Given the description of an element on the screen output the (x, y) to click on. 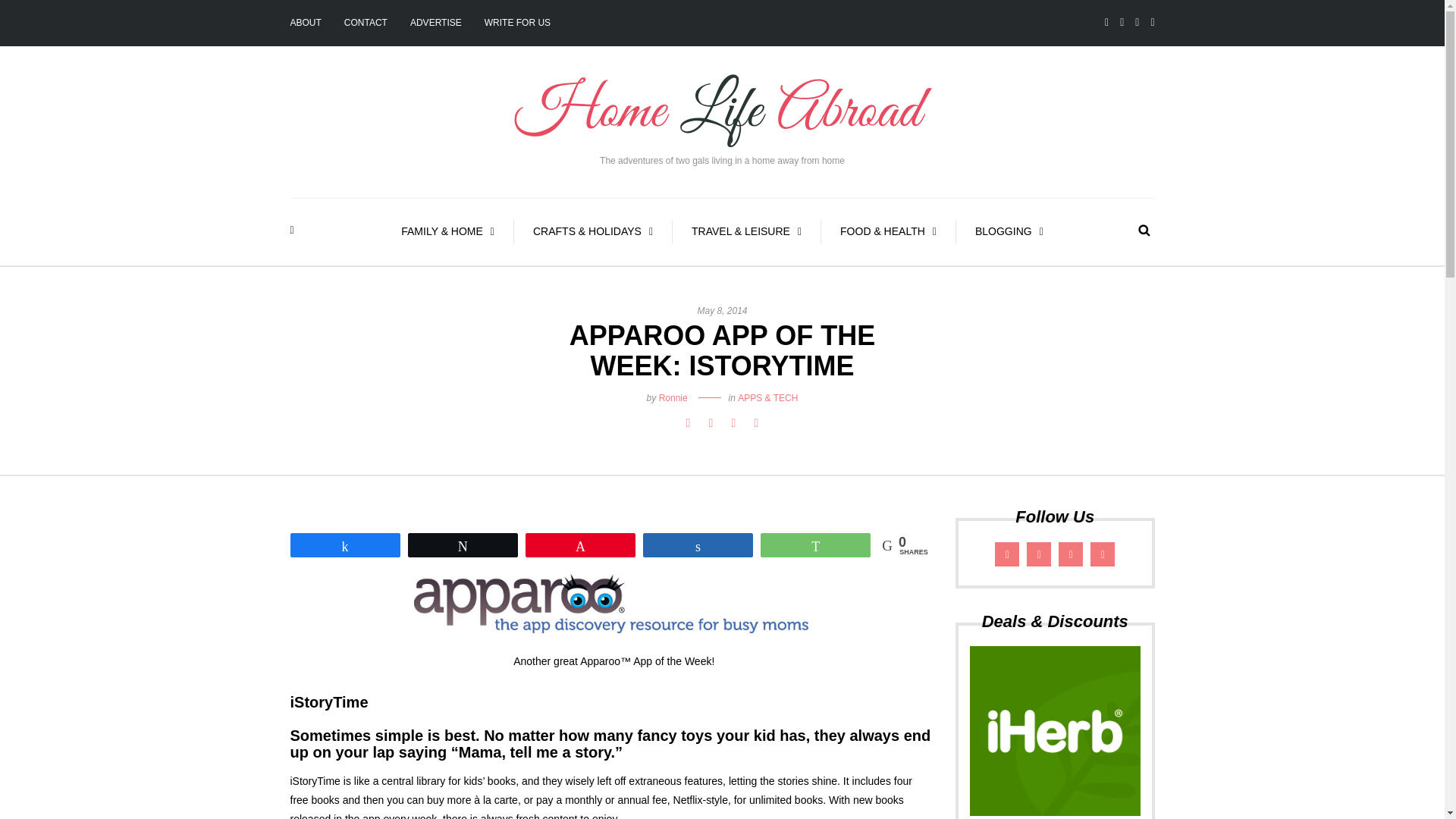
Share with Google Plus (733, 422)
Share this (687, 422)
Tweet this (710, 422)
Posts by Ronnie (673, 398)
Pin this (755, 422)
